Given the description of an element on the screen output the (x, y) to click on. 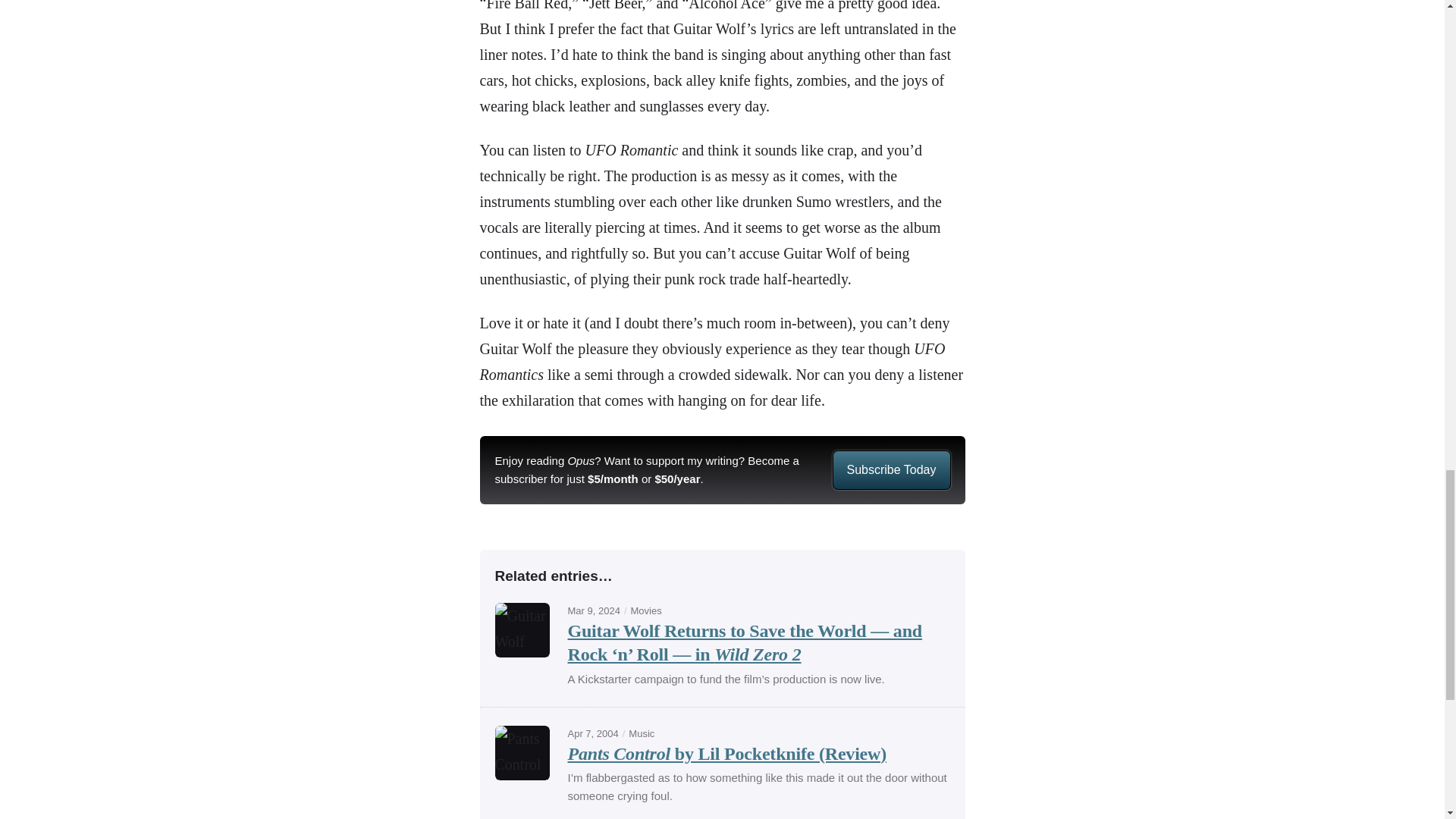
Mar 9, 2024 (593, 610)
Apr 7, 2004 (592, 733)
Movies (646, 610)
Subscribe Today (890, 469)
Music (640, 733)
